Given the description of an element on the screen output the (x, y) to click on. 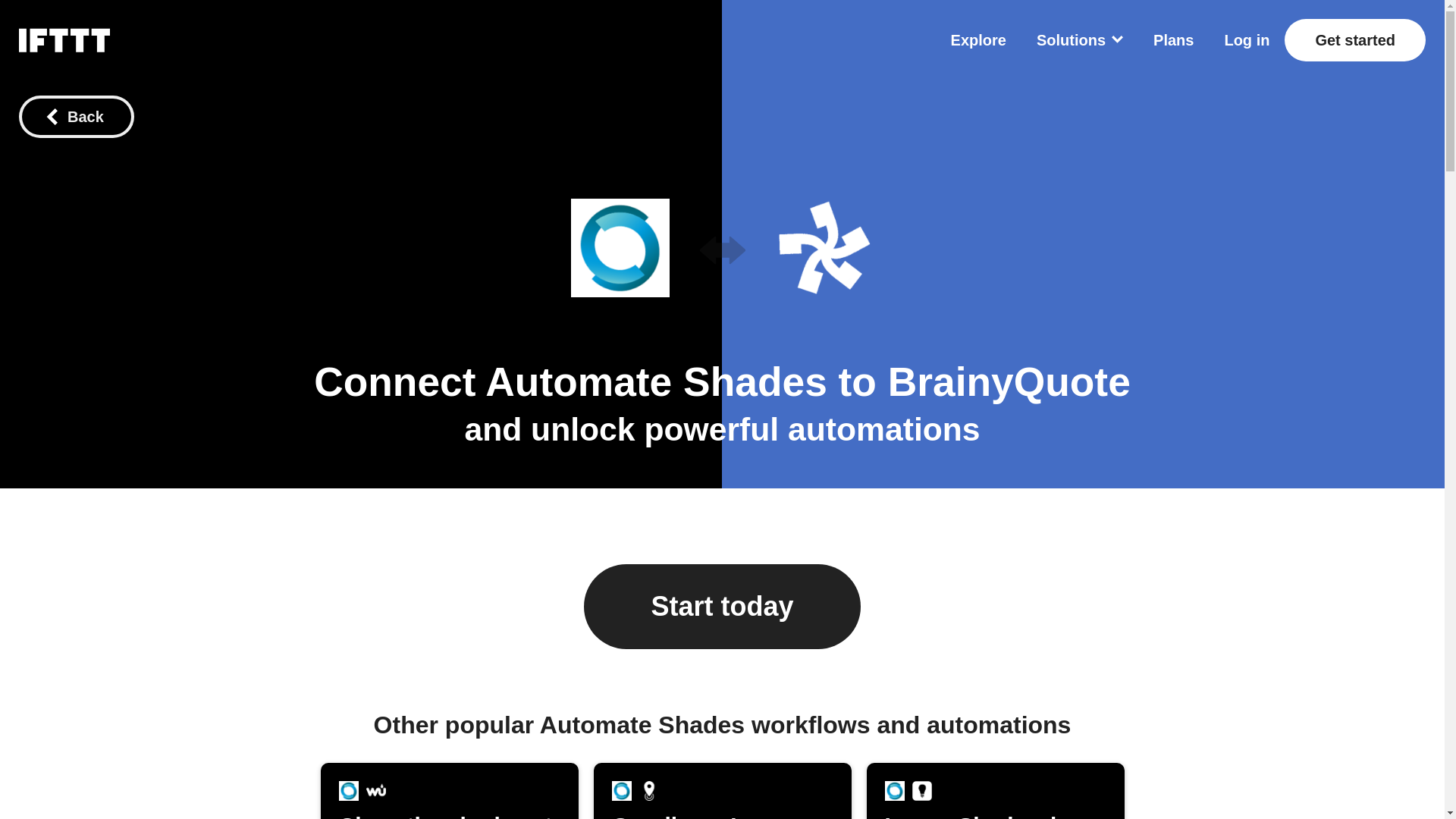
Plans (1173, 39)
Back (75, 116)
Home (449, 790)
Plans (64, 40)
Automate Shades (1173, 39)
Automate Shades (347, 790)
BrainyQuote (655, 381)
Log in (1009, 381)
